Given the description of an element on the screen output the (x, y) to click on. 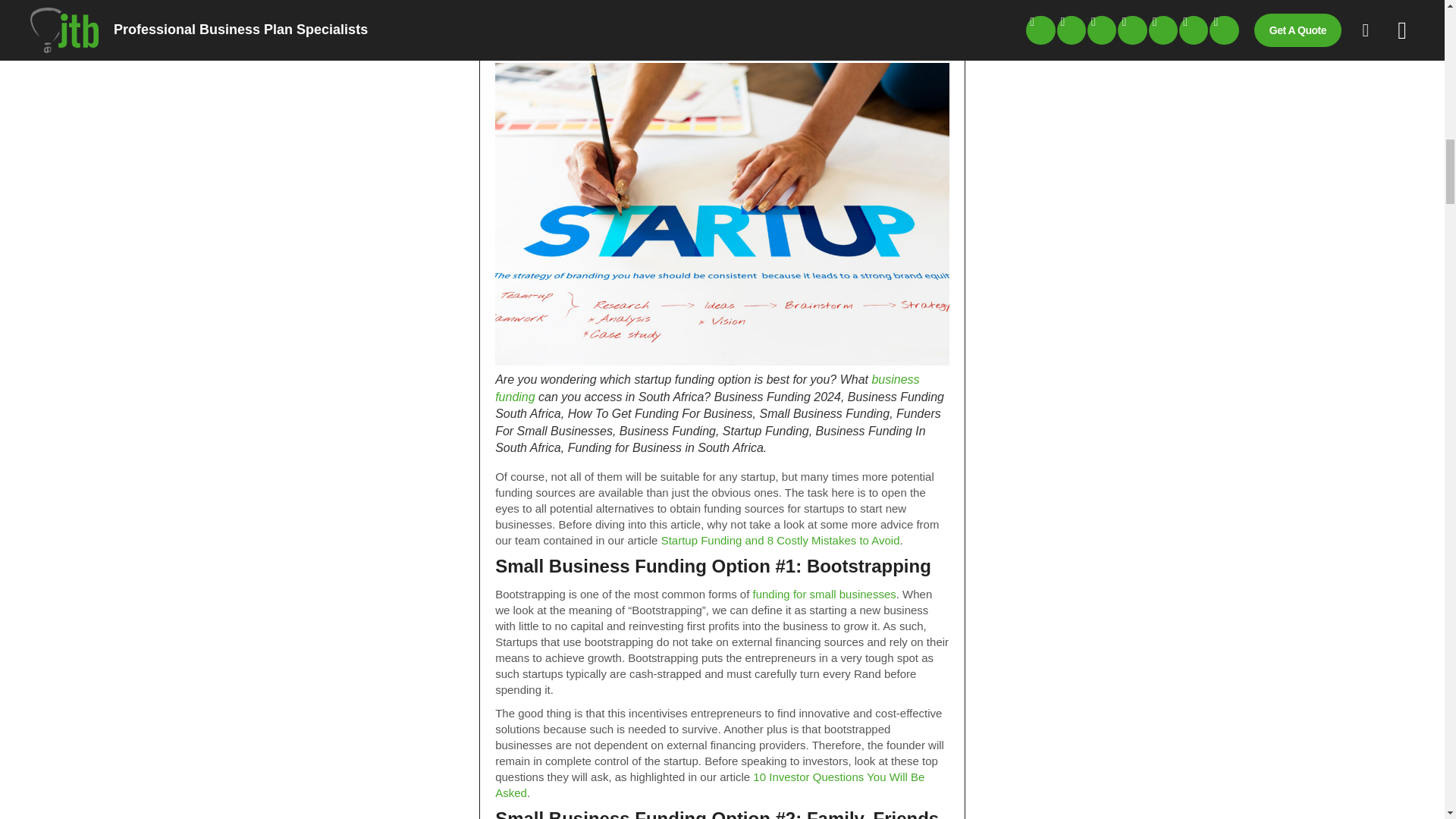
Startup Funding and 8 Costly Mistakes to Avoid (780, 540)
